Given the description of an element on the screen output the (x, y) to click on. 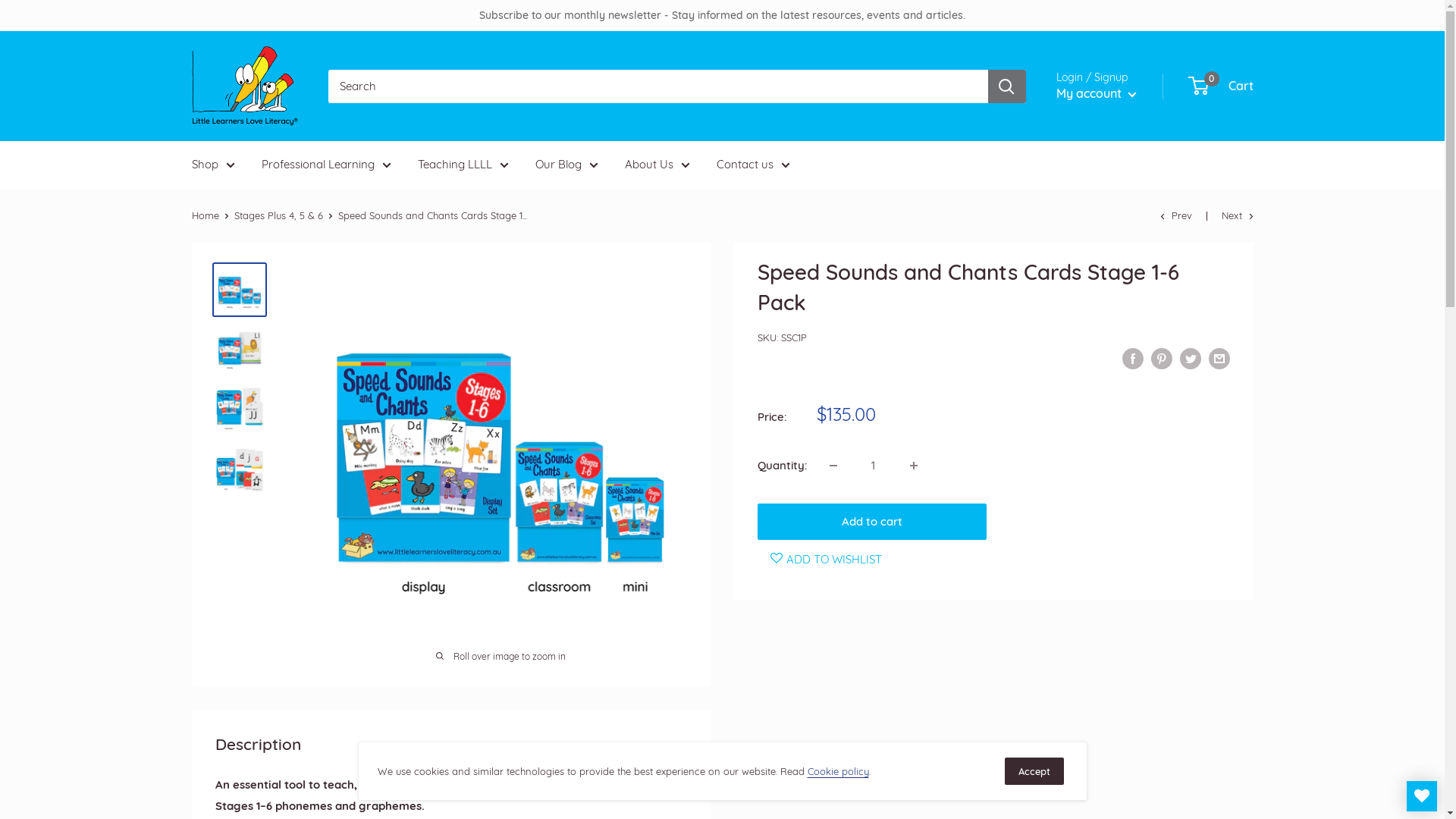
Accept Element type: text (1033, 770)
Home Element type: text (204, 215)
Prev Element type: text (1176, 215)
Stages Plus 4, 5 & 6 Element type: text (277, 215)
Teaching LLLL Element type: text (462, 164)
About Us Element type: text (657, 164)
Professional Learning Element type: text (325, 164)
Contact us Element type: text (752, 164)
0
Cart Element type: text (1220, 86)
My account Element type: text (1095, 93)
Cookie policy Element type: text (837, 771)
MY WISHLIST Element type: text (1421, 796)
Shop Element type: text (212, 164)
ADD TO WISHLIST Element type: text (822, 558)
Next Element type: text (1236, 215)
Decrease quantity by 1 Element type: hover (833, 465)
Increase quantity by 1 Element type: hover (913, 465)
Our Blog Element type: text (566, 164)
Add to cart Element type: text (871, 521)
